Given the description of an element on the screen output the (x, y) to click on. 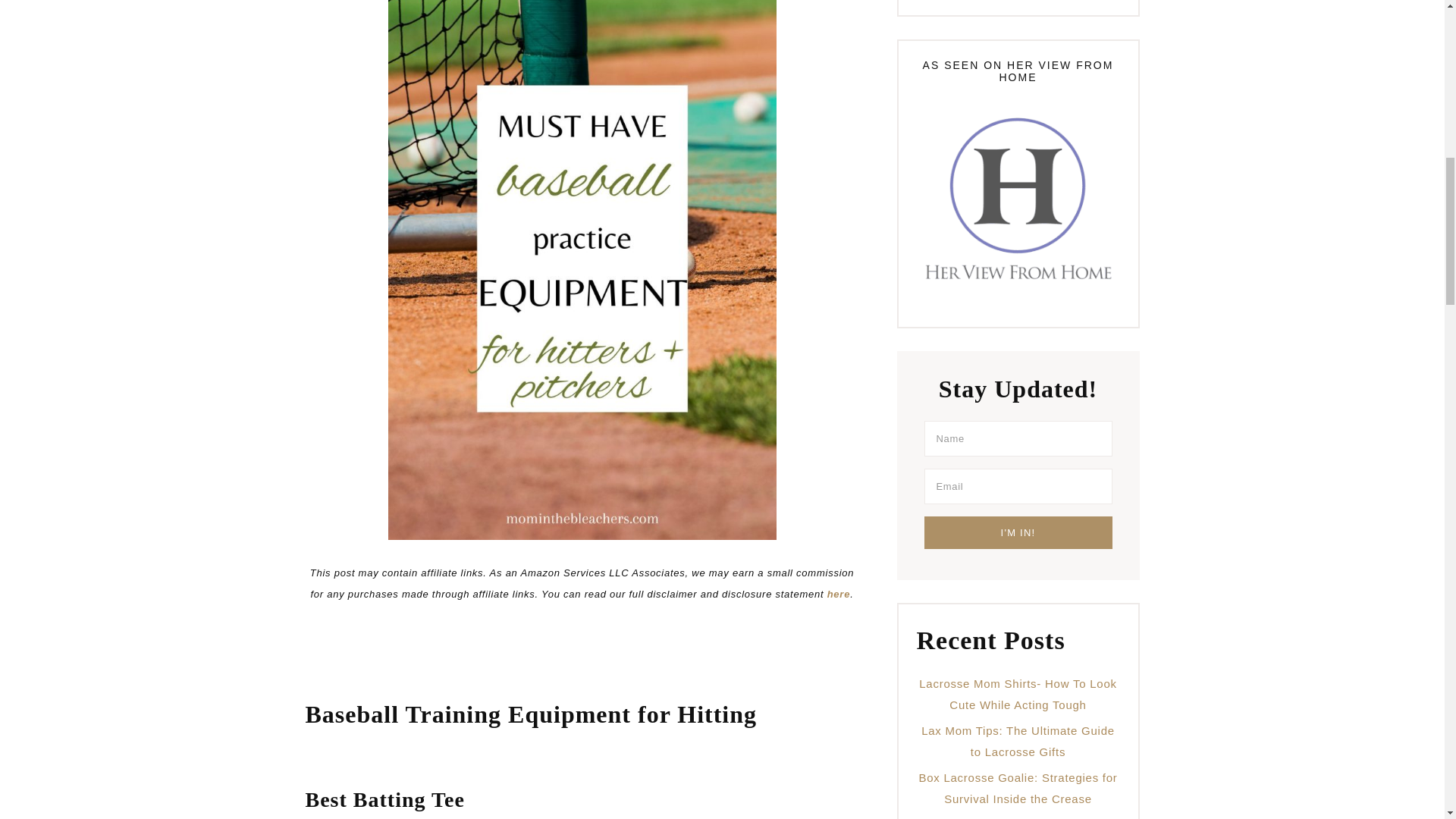
I'm in! (1017, 532)
